Given the description of an element on the screen output the (x, y) to click on. 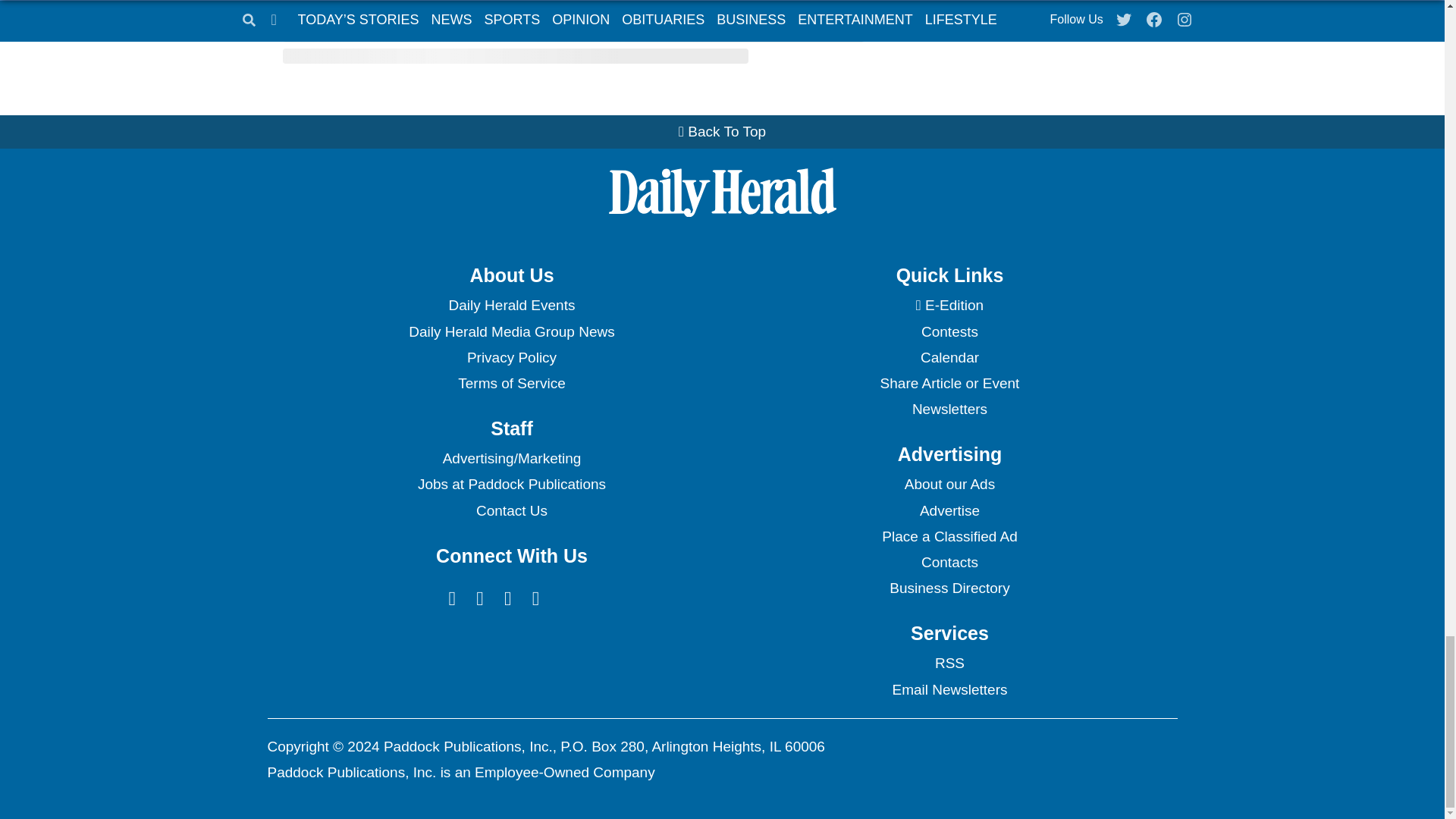
Daily Herald Events (511, 305)
Daily Herald Media Group News (511, 331)
Privacy Policy (511, 357)
Jobs at Paddock Publications (511, 484)
Contests (949, 331)
Contact Us (511, 510)
Terms of Service (511, 383)
Daily Herald Digital Newspaper (949, 305)
